Given the description of an element on the screen output the (x, y) to click on. 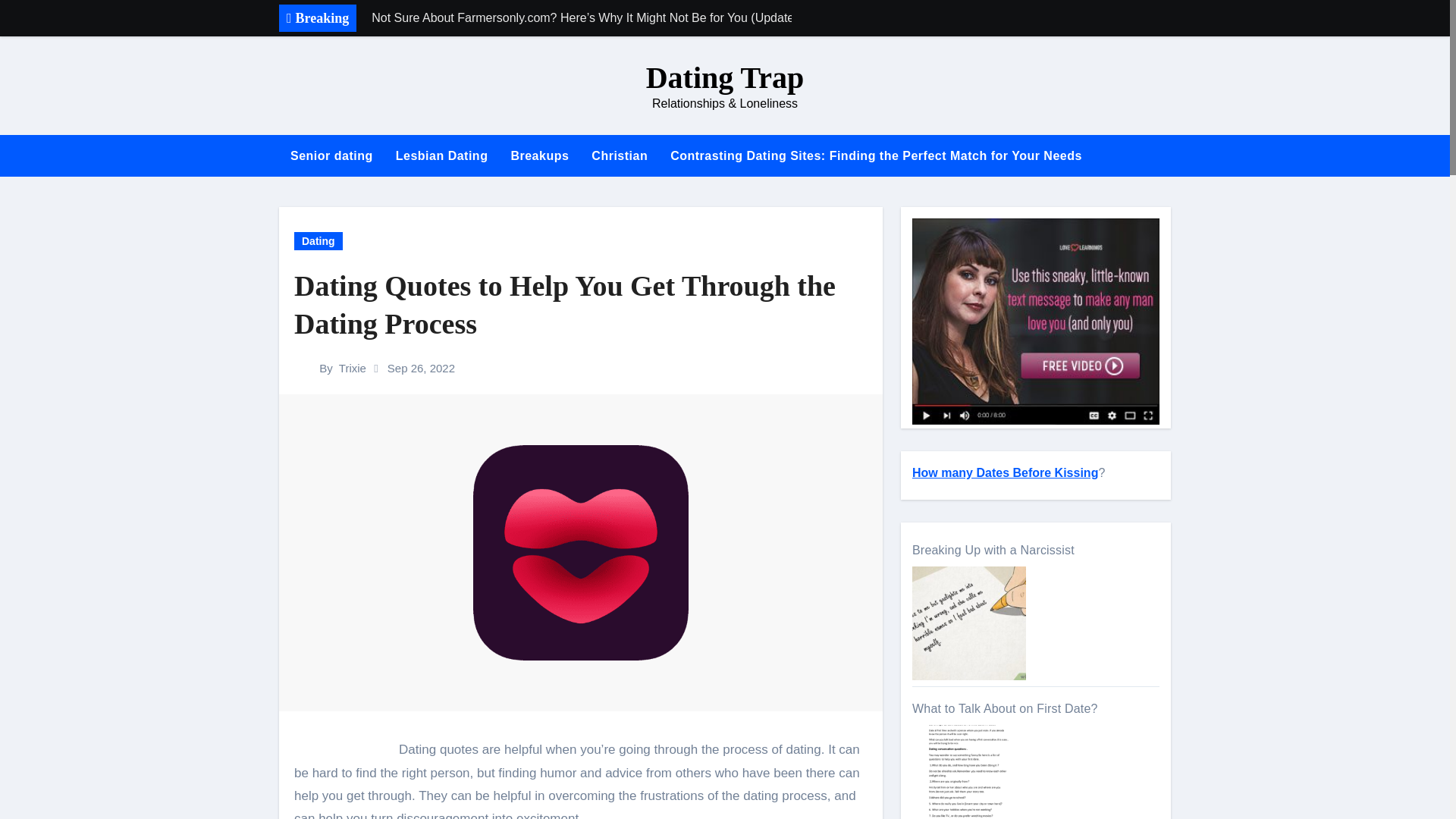
Sep 26, 2022 (420, 367)
Lesbian Dating (441, 155)
Christian (619, 155)
Christian (619, 155)
Dating Quotes to Help You Get Through the Dating Process (580, 305)
Breakups (539, 155)
Breakups (539, 155)
Dating Trap (725, 77)
